Given the description of an element on the screen output the (x, y) to click on. 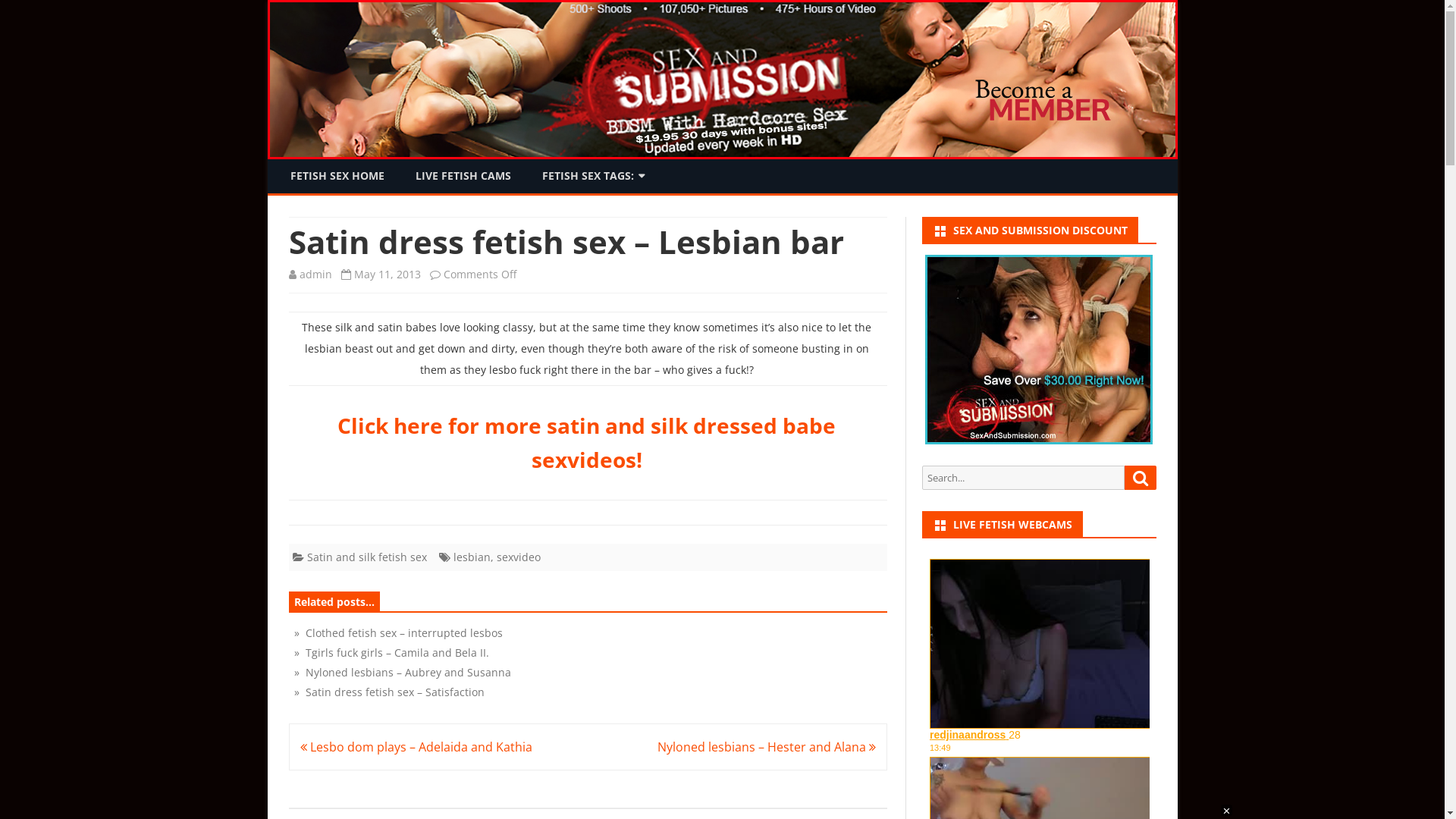
lesbian Element type: text (471, 556)
Search for: Element type: hover (1023, 477)
admin Element type: text (314, 273)
Satin and silk fetish sex Element type: text (366, 556)
Search Element type: text (1139, 477)
FETISH SEX TAGS: Element type: text (590, 176)
FETISH SEX HOME Element type: text (337, 176)
Click here for more satin and silk dressed babe sexvideos! Element type: text (586, 442)
sexvideo Element type: text (517, 556)
ANAL Element type: text (606, 208)
LIVE FETISH CAMS Element type: text (462, 176)
Skip to content Element type: text (721, 159)
